Given the description of an element on the screen output the (x, y) to click on. 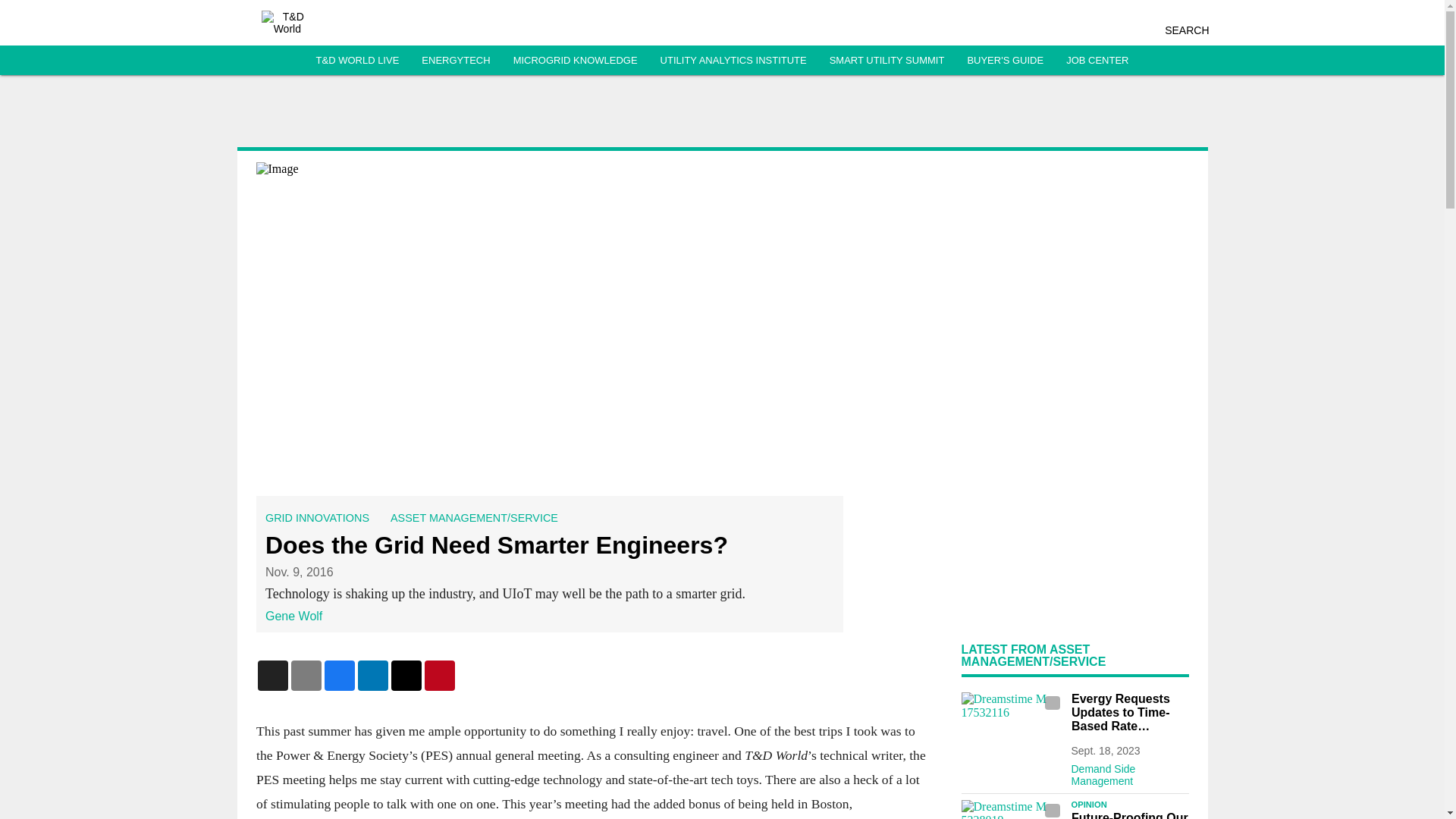
JOB CENTER (1096, 60)
UTILITY ANALYTICS INSTITUTE (733, 60)
MICROGRID KNOWLEDGE (575, 60)
ENERGYTECH (455, 60)
Dreamstime M 5328019 (1012, 809)
Dreamstime M 17532116 (1012, 720)
Gene Wolf (292, 615)
GRID INNOVATIONS (316, 517)
BUYER'S GUIDE (1004, 60)
Demand Side Management (1129, 771)
SEARCH (1186, 30)
SMART UTILITY SUMMIT (886, 60)
